Given the description of an element on the screen output the (x, y) to click on. 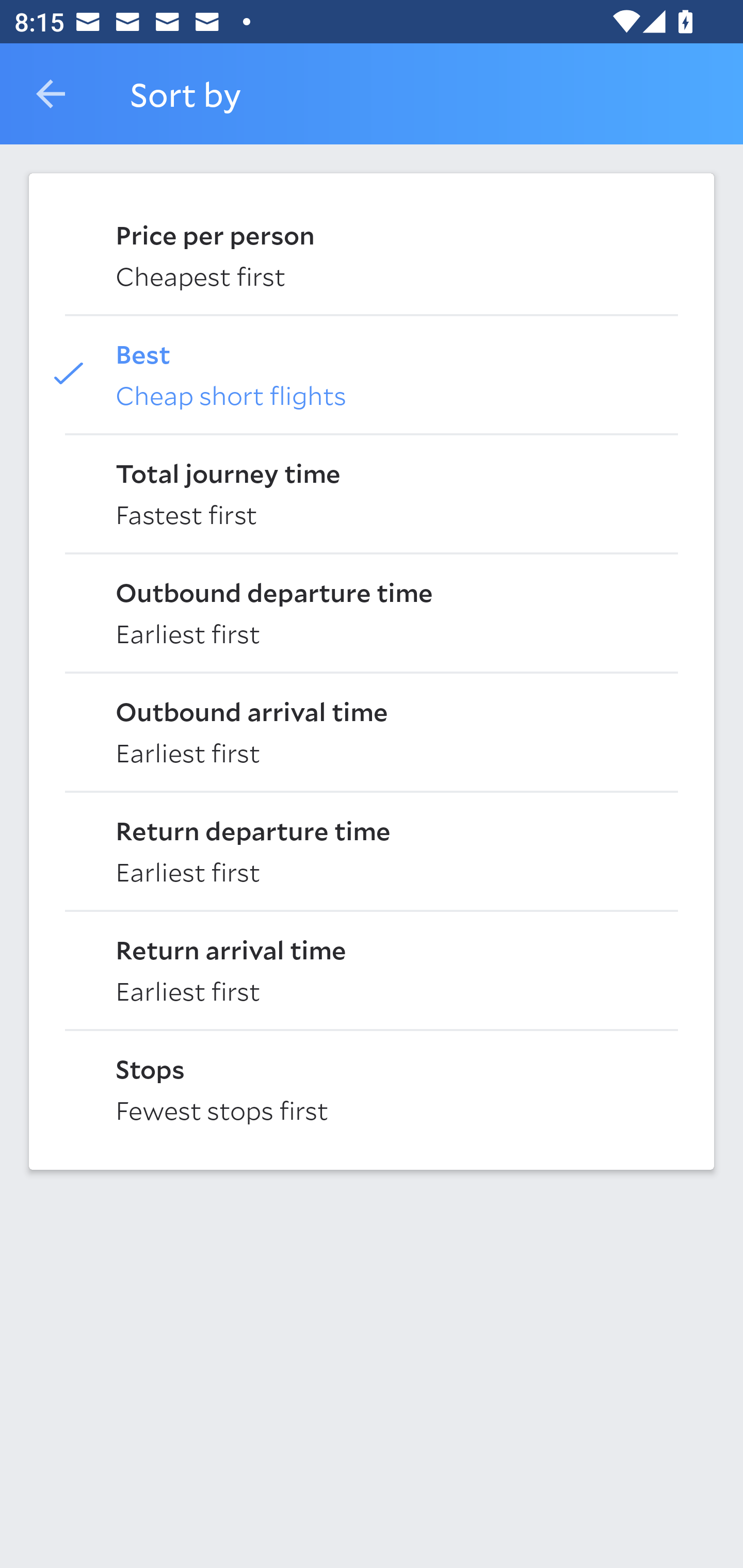
Navigate up (50, 93)
Price per person Cheapest first (371, 253)
Best Cheap short flights (371, 372)
Total journey time Fastest first (371, 491)
Outbound departure time Earliest first (371, 611)
Outbound arrival time Earliest first (371, 730)
Return departure time Earliest first (371, 849)
Return arrival time Earliest first (371, 968)
Stops Fewest stops first (371, 1087)
